Given the description of an element on the screen output the (x, y) to click on. 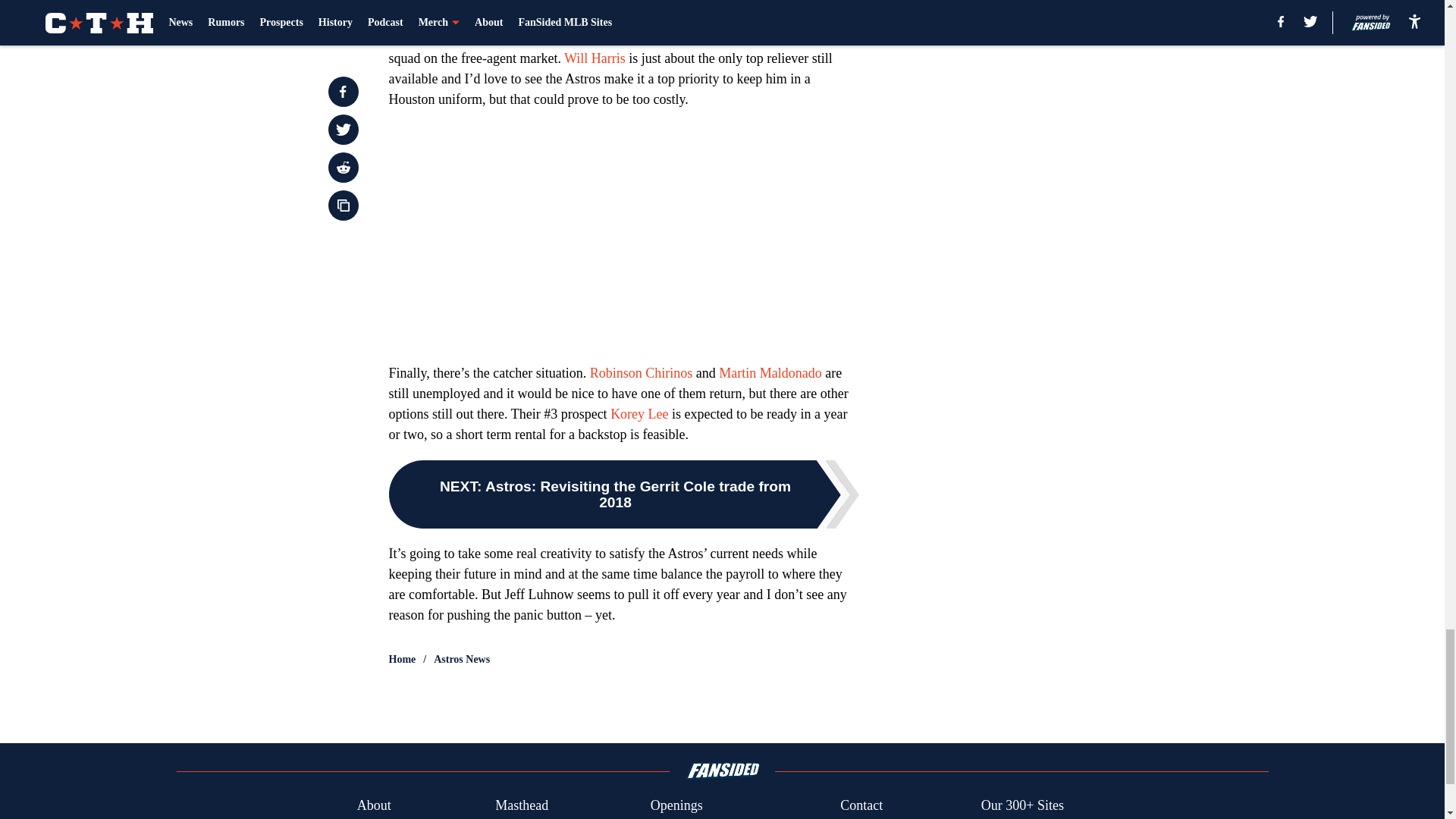
Julio Teheran (449, 4)
